Given the description of an element on the screen output the (x, y) to click on. 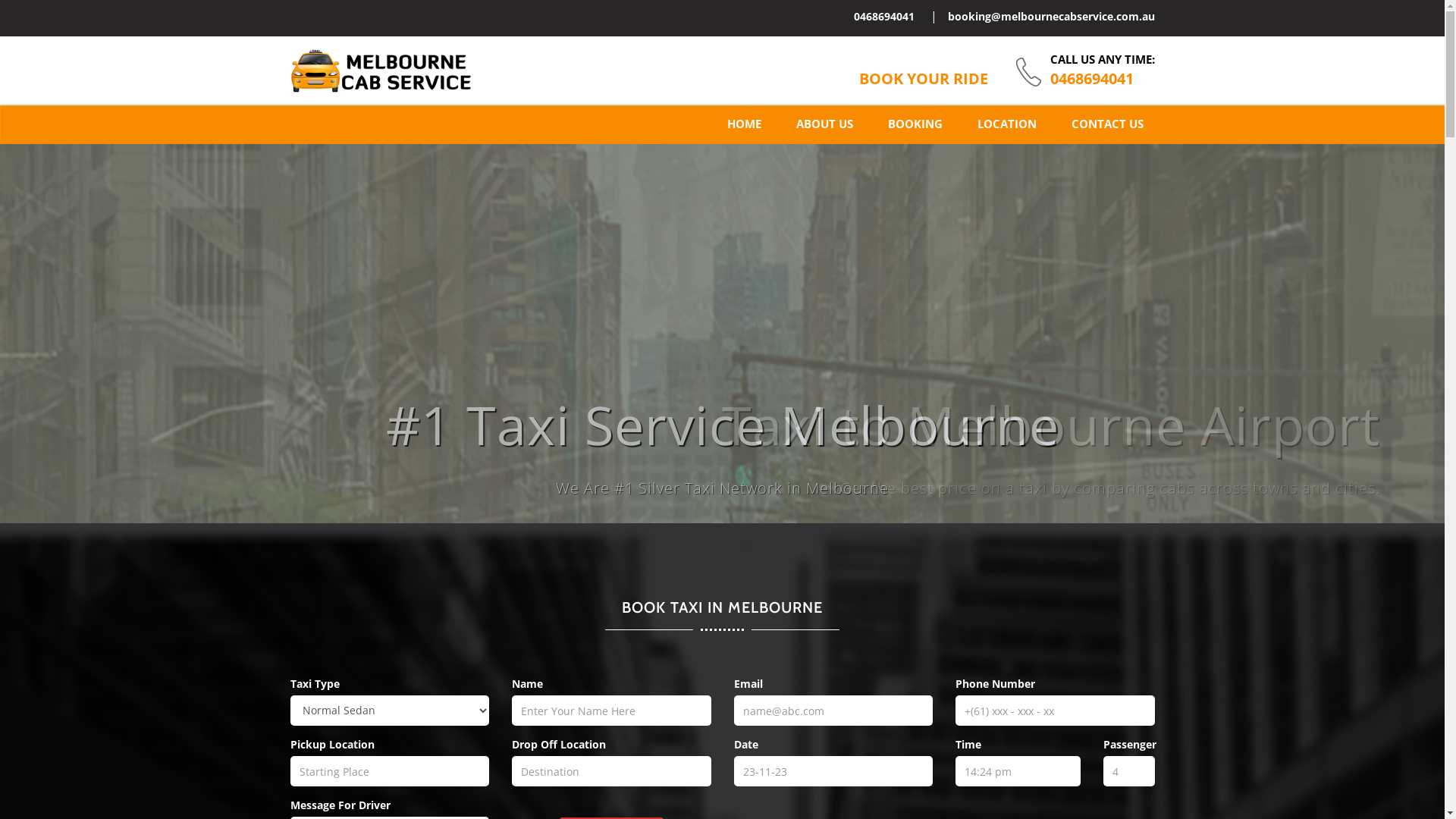
0468694041 Element type: text (883, 16)
BOOKING Element type: text (914, 123)
LOCATION Element type: text (1007, 123)
CONTACT US Element type: text (1107, 123)
0468694041 Element type: text (1090, 78)
ABOUT US Element type: text (823, 123)
booking@melbournecabservice.com.au Element type: text (1050, 16)
HOME Element type: text (743, 123)
